Given the description of an element on the screen output the (x, y) to click on. 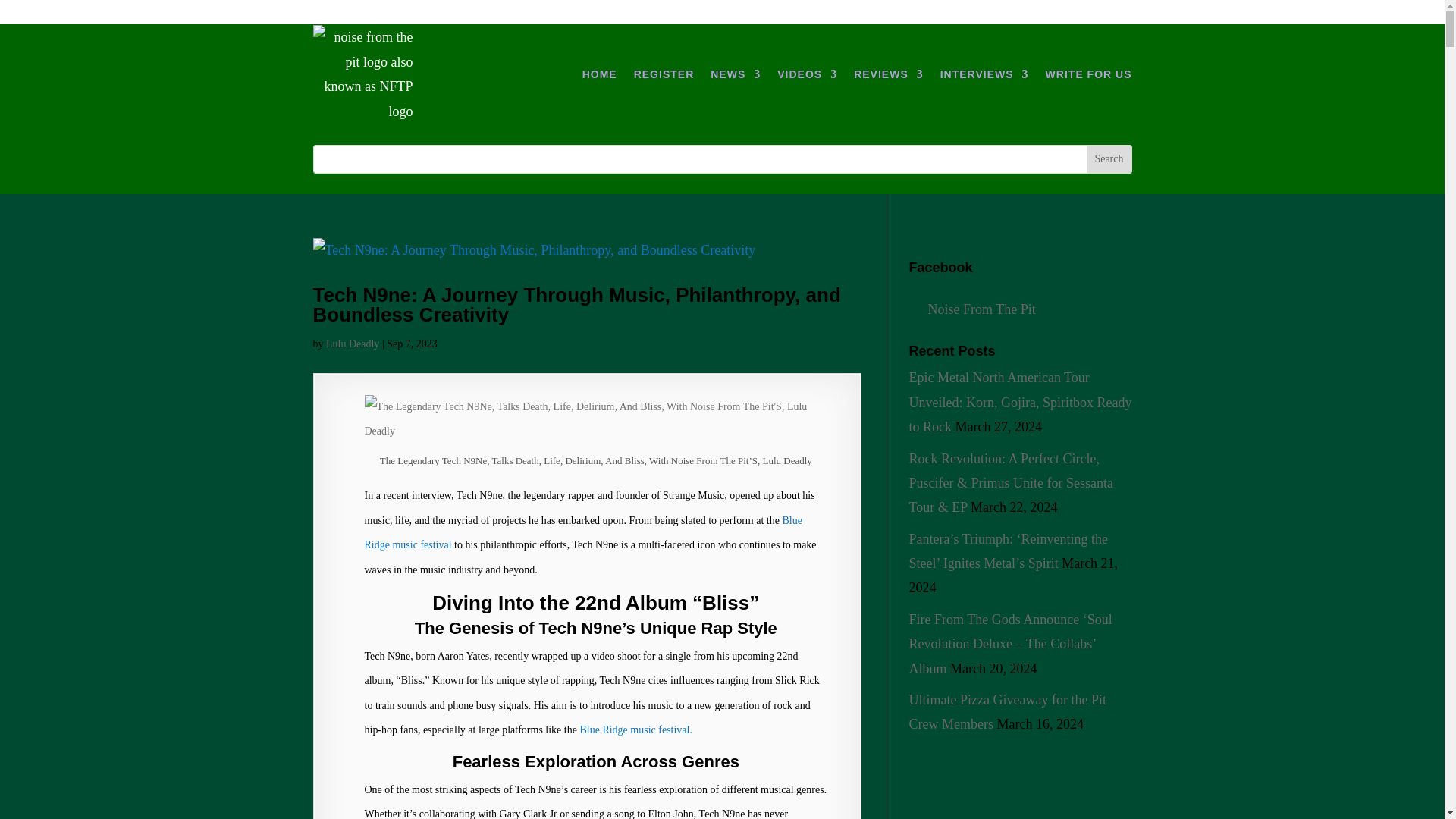
Blue Ridge music festival (583, 532)
INTERVIEWS (984, 74)
Lulu Deadly (352, 343)
Posts by Lulu Deadly (352, 343)
Search (1108, 158)
Blue Ridge music festival. (636, 729)
Search (1108, 158)
Search (1108, 158)
